Given the description of an element on the screen output the (x, y) to click on. 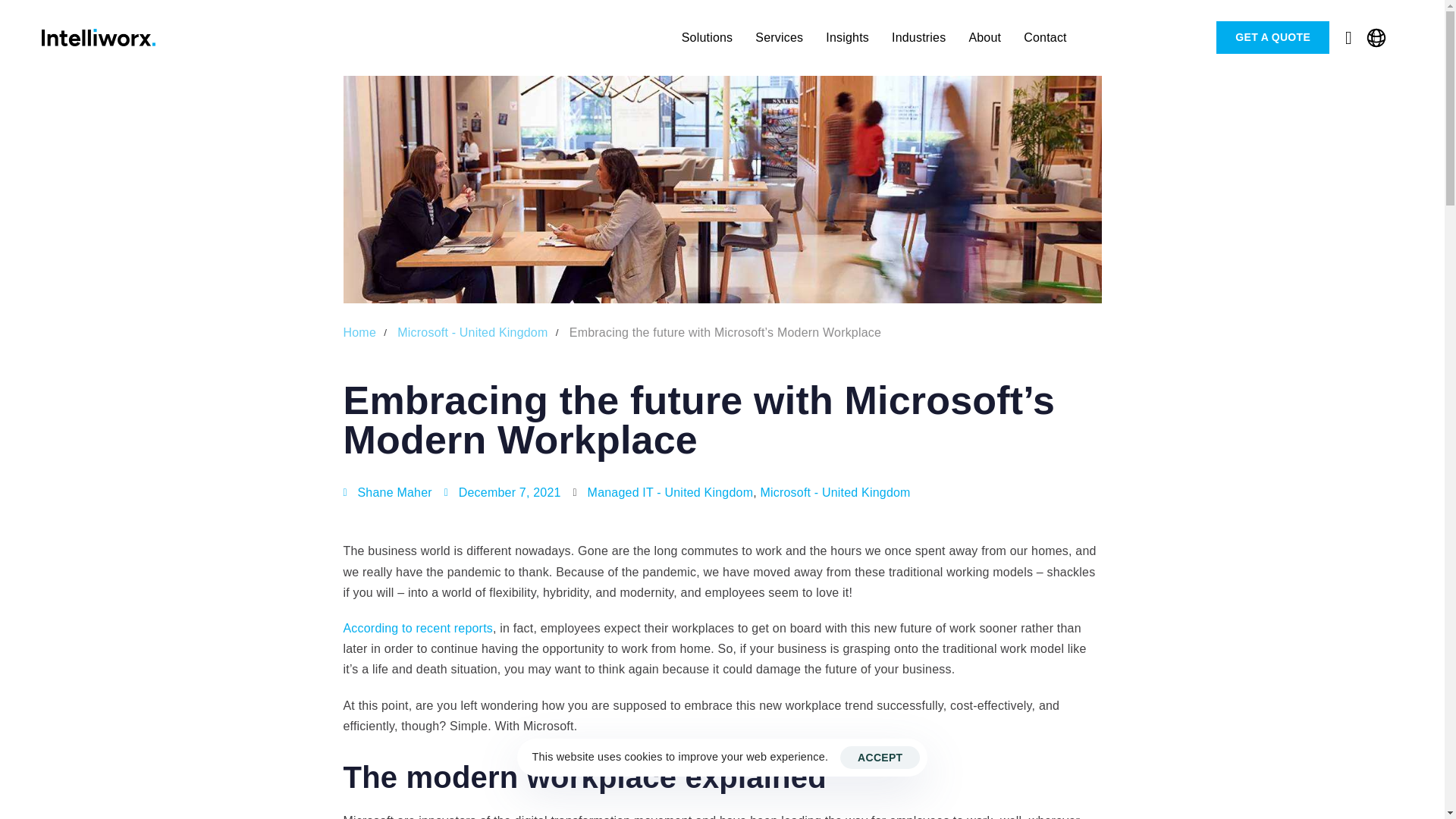
GET A QUOTE (1272, 37)
Industries (918, 37)
Solutions (706, 37)
Services (778, 37)
